Given the description of an element on the screen output the (x, y) to click on. 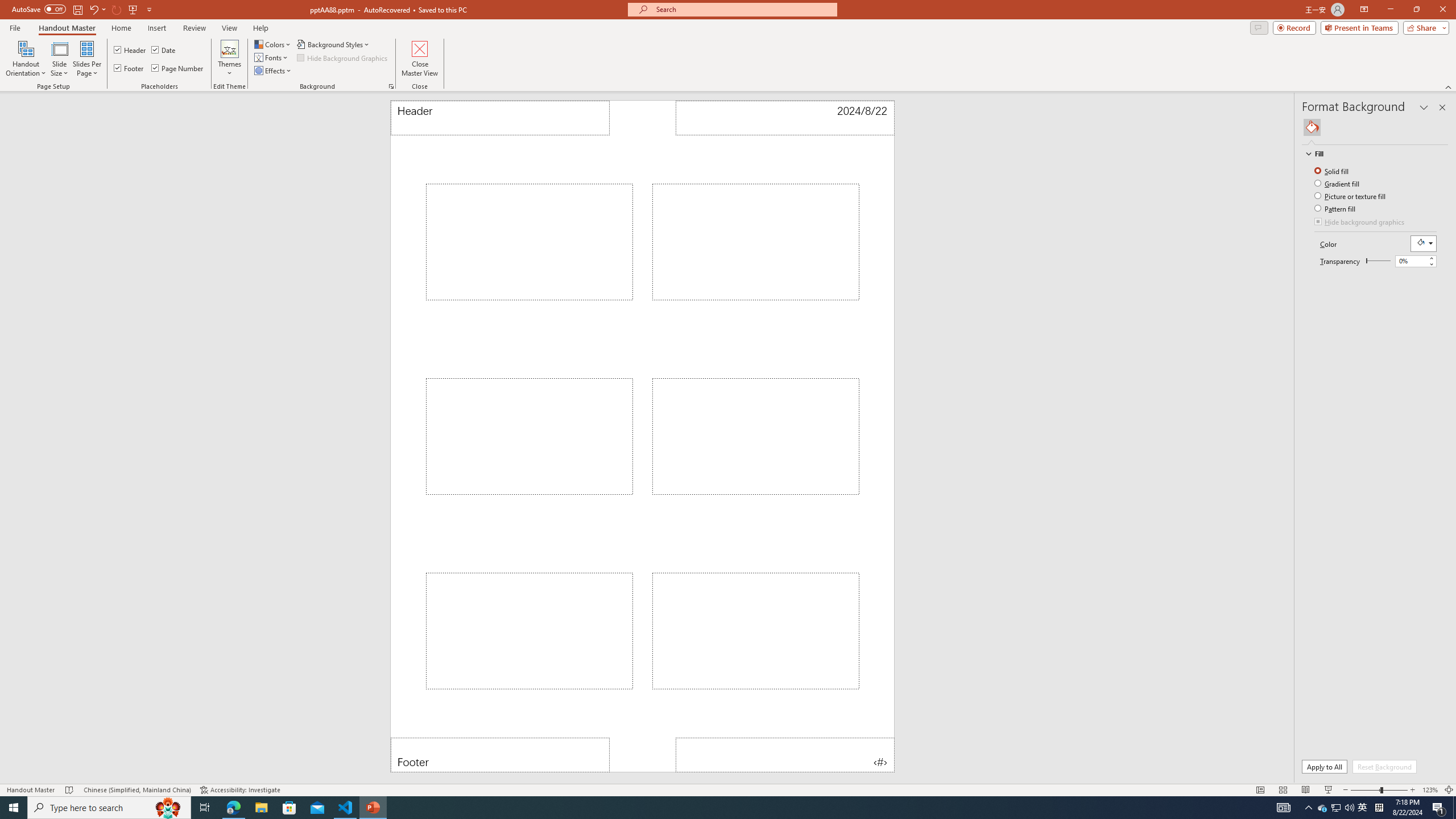
Effects (273, 69)
Apply to All (1323, 766)
Transparency (1415, 260)
